Given the description of an element on the screen output the (x, y) to click on. 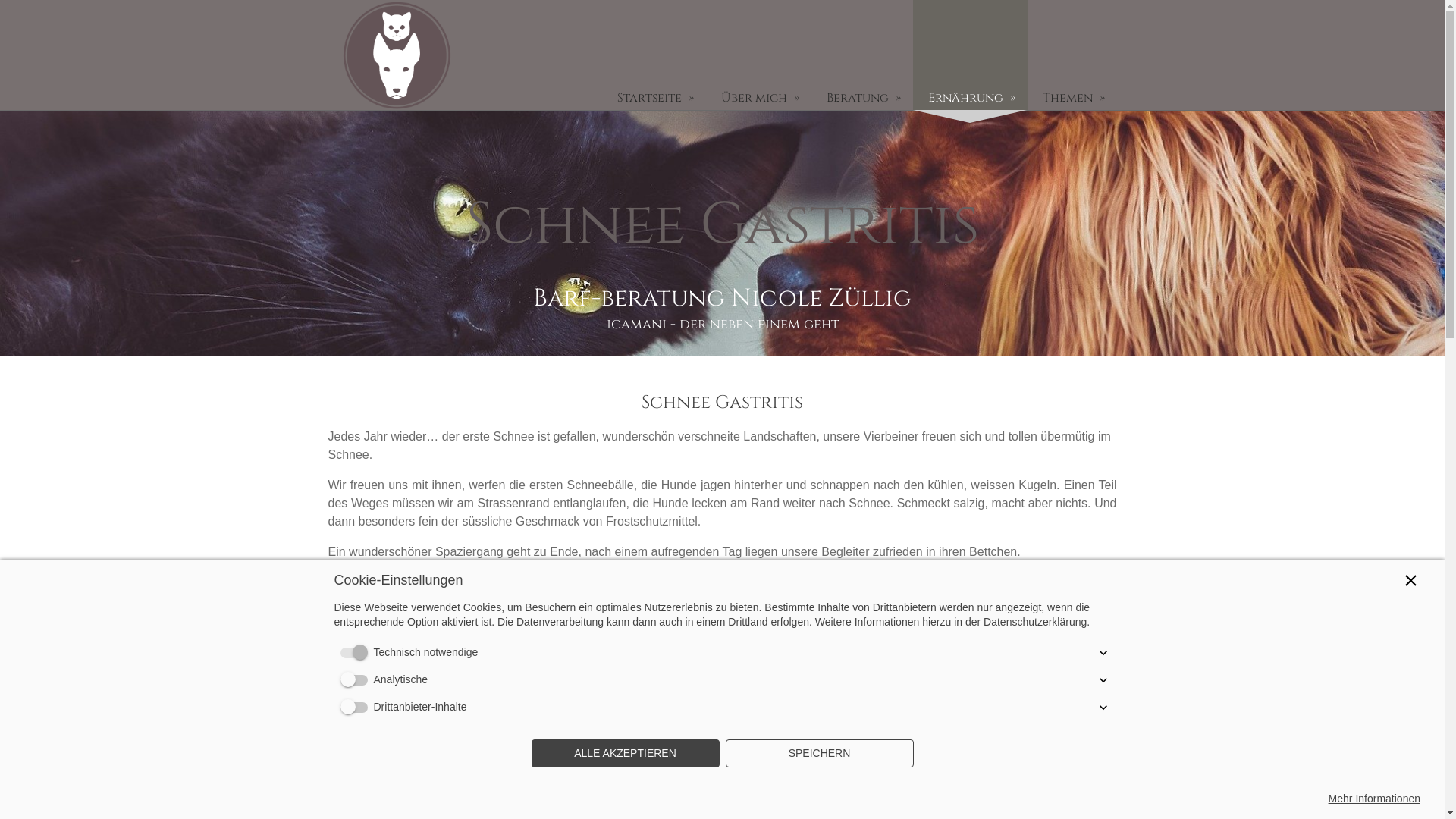
Mehr Informationen Element type: text (1374, 798)
Themen Element type: text (1071, 54)
Startseite Element type: text (654, 54)
SPEICHERN Element type: text (818, 753)
ALLE AKZEPTIEREN Element type: text (624, 753)
Beratung Element type: text (862, 54)
